Given the description of an element on the screen output the (x, y) to click on. 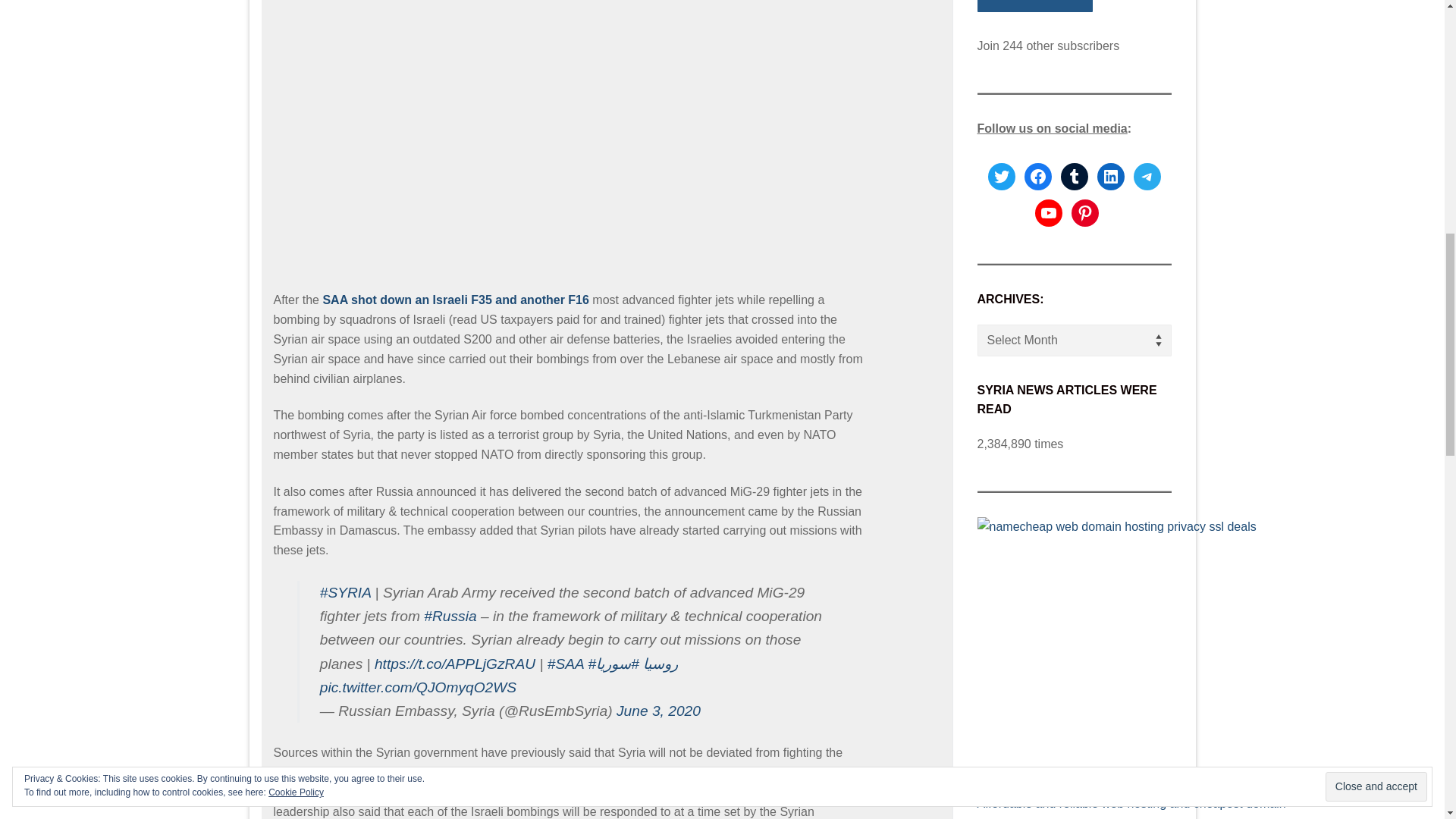
June 3, 2020 (657, 710)
SAA shot down an Israeli F35 and another F16 (454, 299)
